Given the description of an element on the screen output the (x, y) to click on. 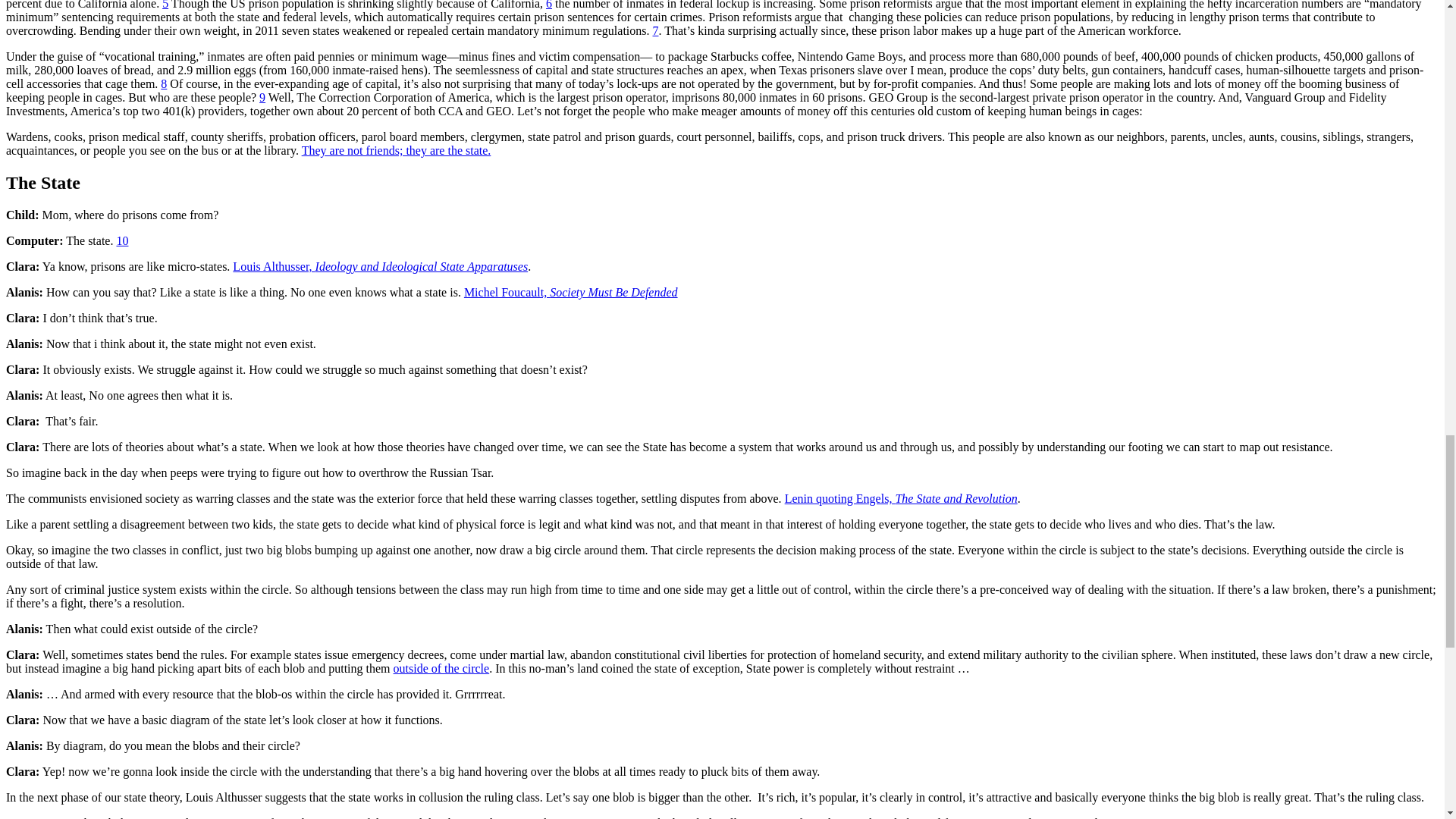
Louis Althusser, Ideology and Ideological State Apparatuses (379, 266)
Michel Foucault, Society Must Be Defended (571, 291)
10 (122, 240)
They are not friends; they are the state. (396, 150)
